Given the description of an element on the screen output the (x, y) to click on. 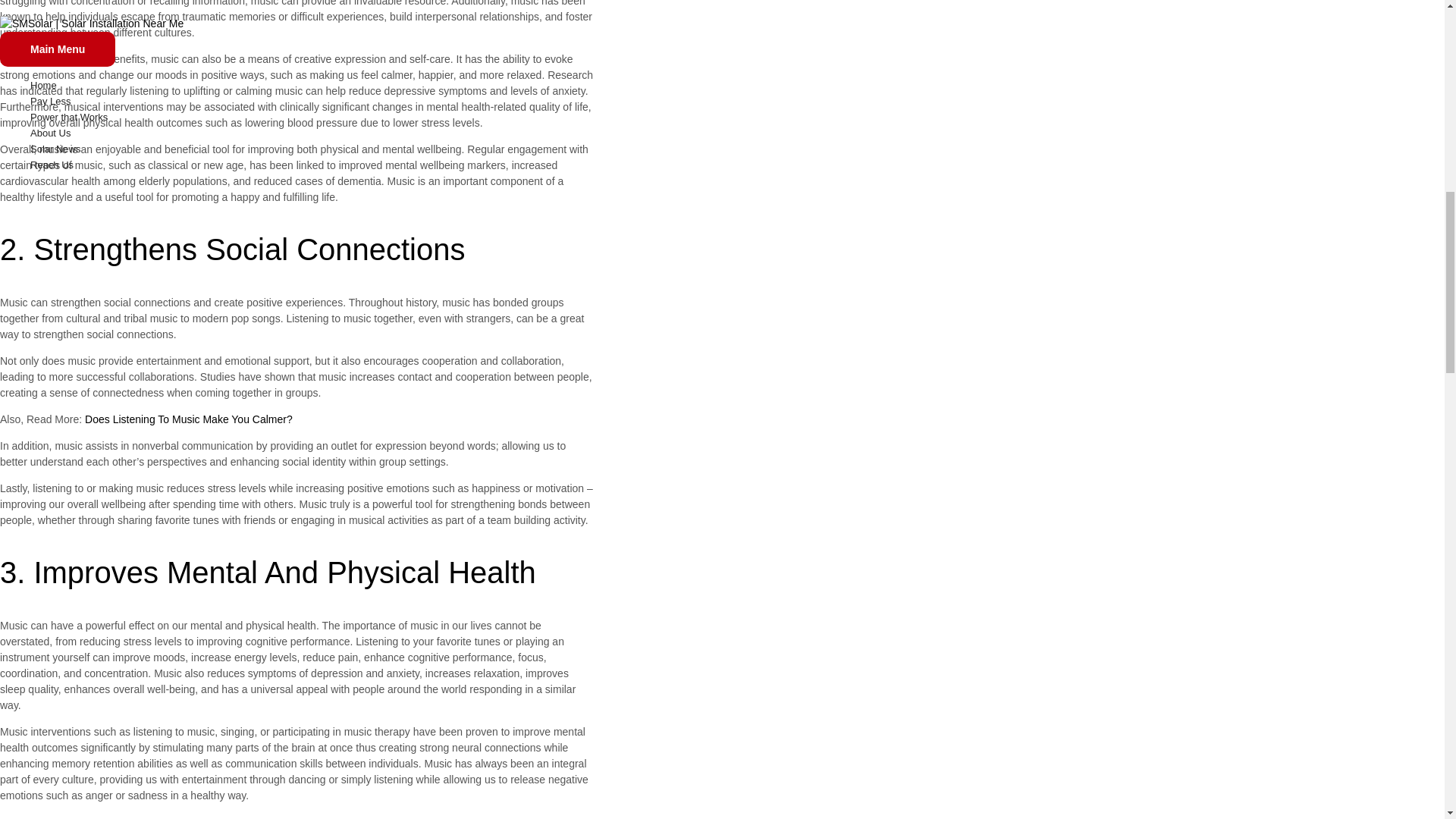
Does Listening To Music Make You Calmer? (188, 419)
